Given the description of an element on the screen output the (x, y) to click on. 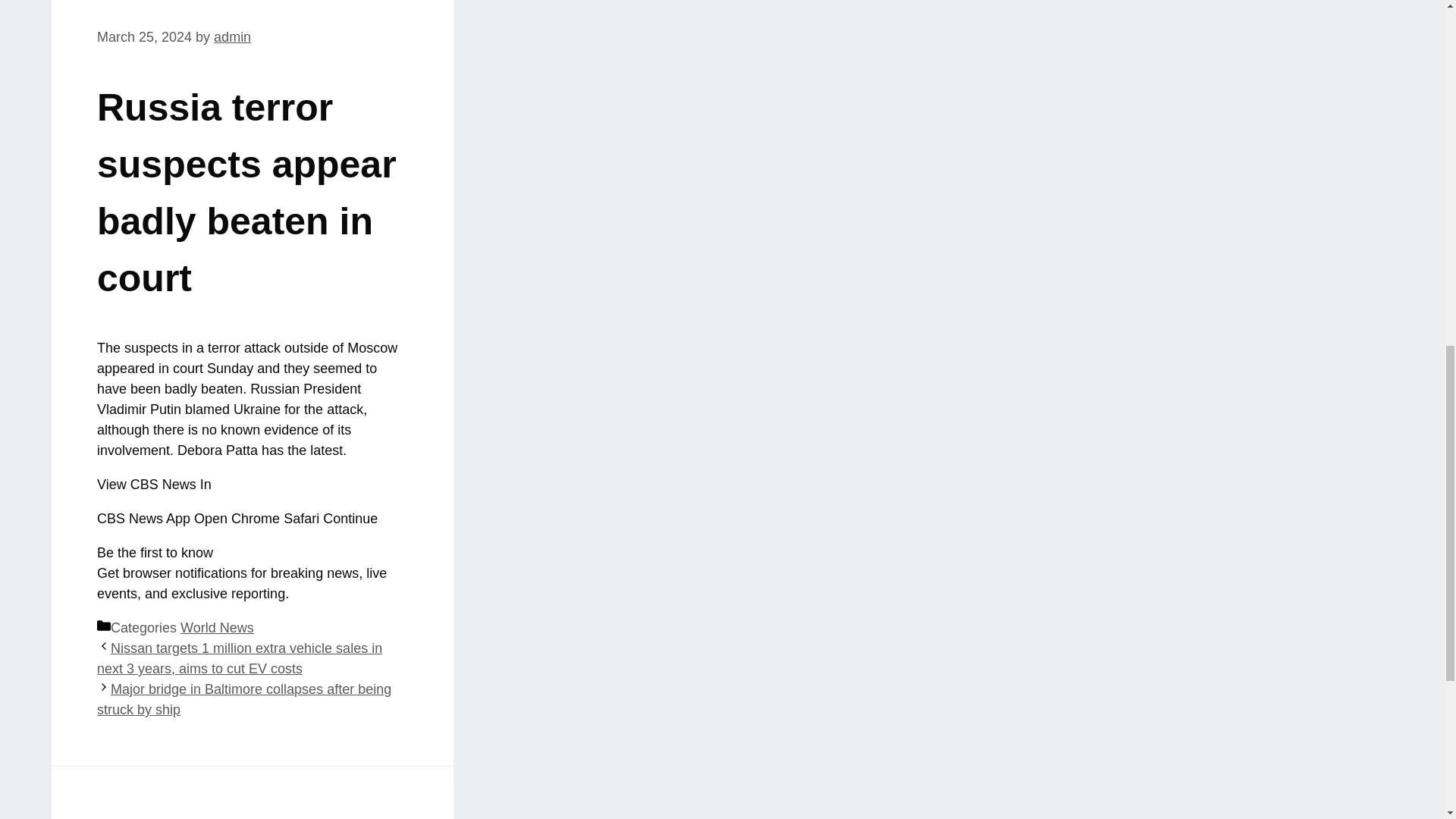
View all posts by admin (232, 37)
World News (216, 627)
admin (232, 37)
